Given the description of an element on the screen output the (x, y) to click on. 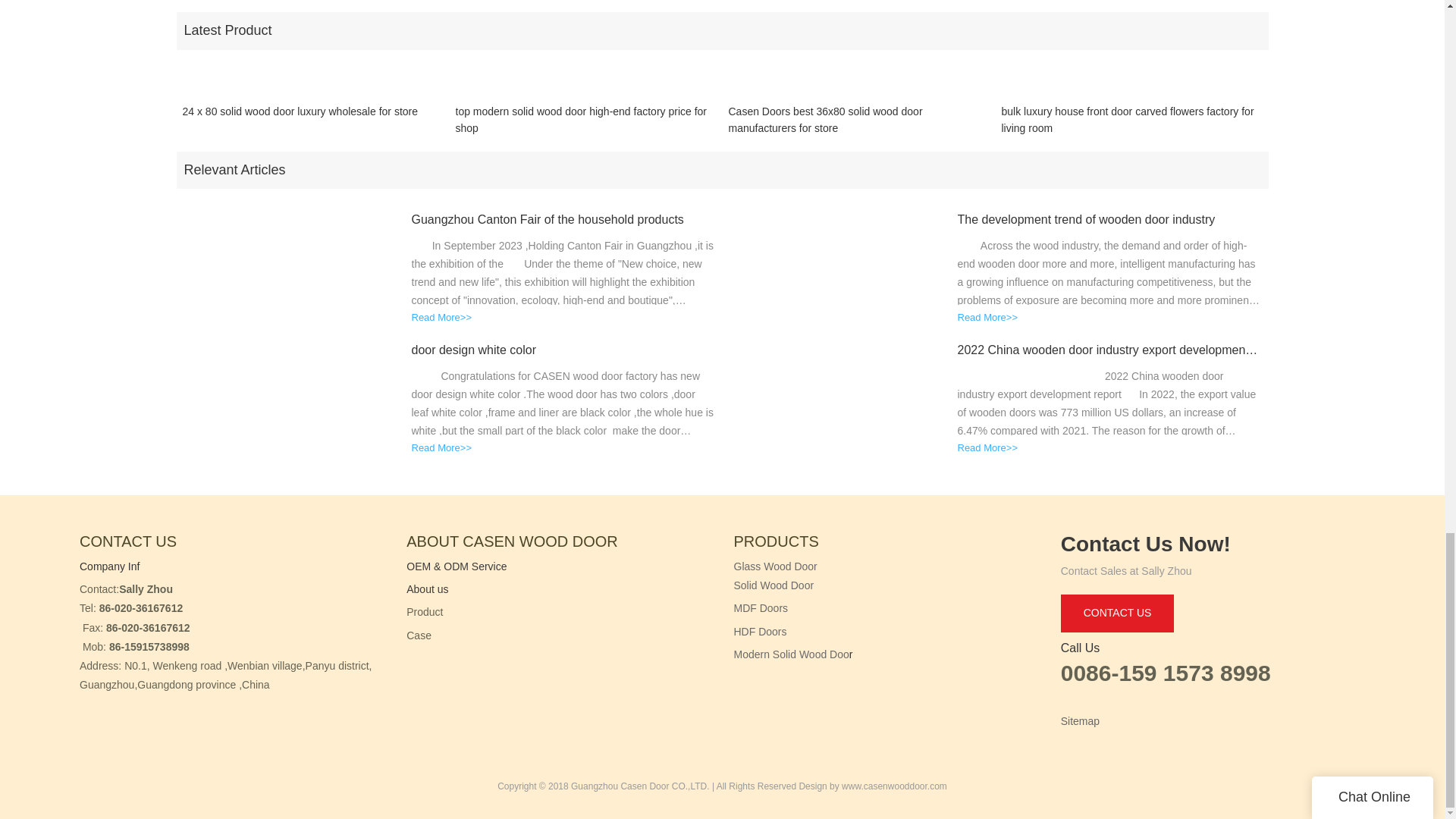
24 x 80 solid wood door luxury wholesale for store (299, 119)
2022 China wooden door industry export development report (1108, 350)
door design white color (562, 350)
top modern solid wood door high-end factory price for shop (585, 119)
Guangzhou Canton Fair of the  household products (562, 220)
The development trend of wooden door industry (1108, 220)
